Given the description of an element on the screen output the (x, y) to click on. 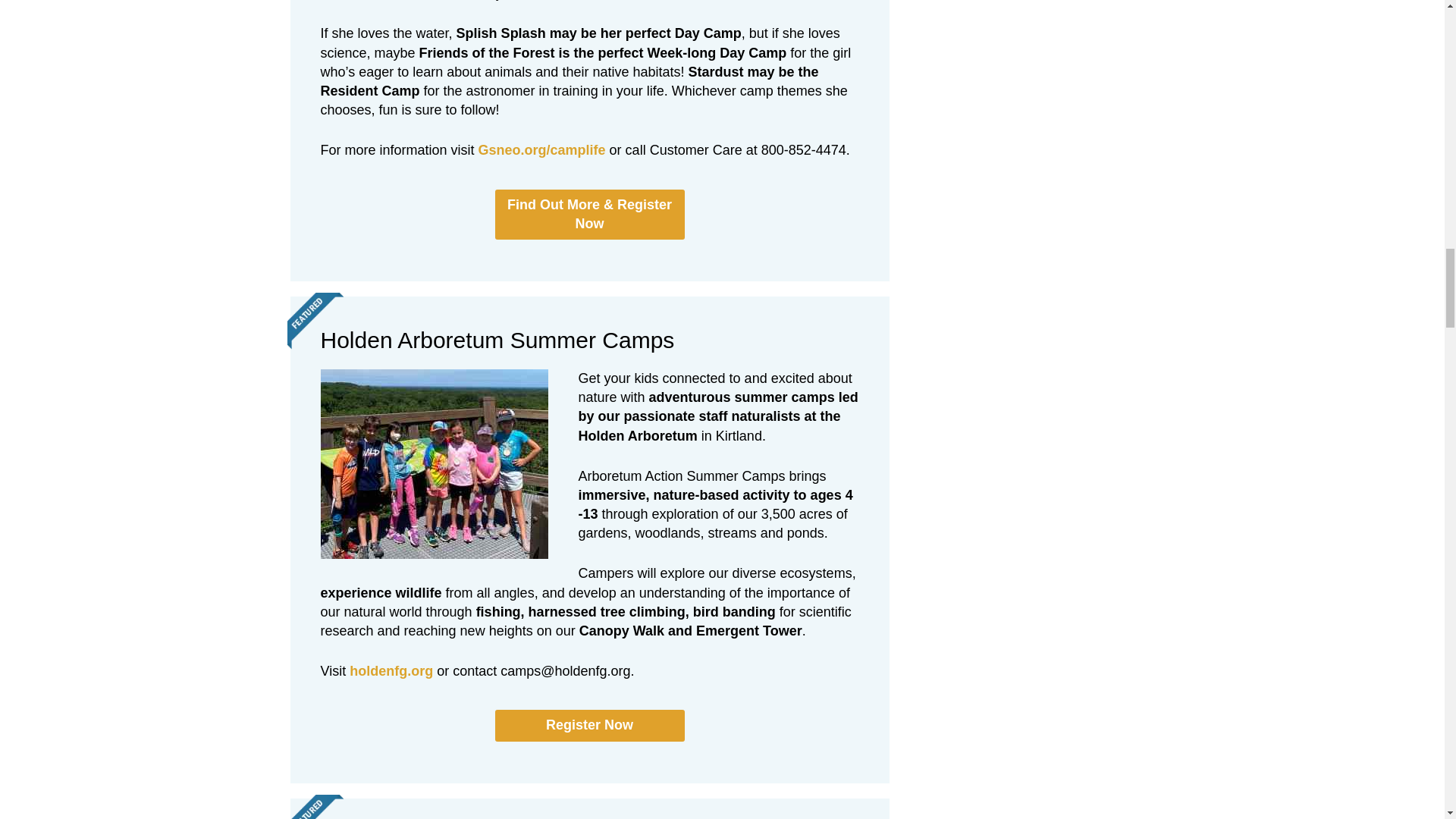
holdenfg.org (390, 670)
Register Now (589, 725)
